Given the description of an element on the screen output the (x, y) to click on. 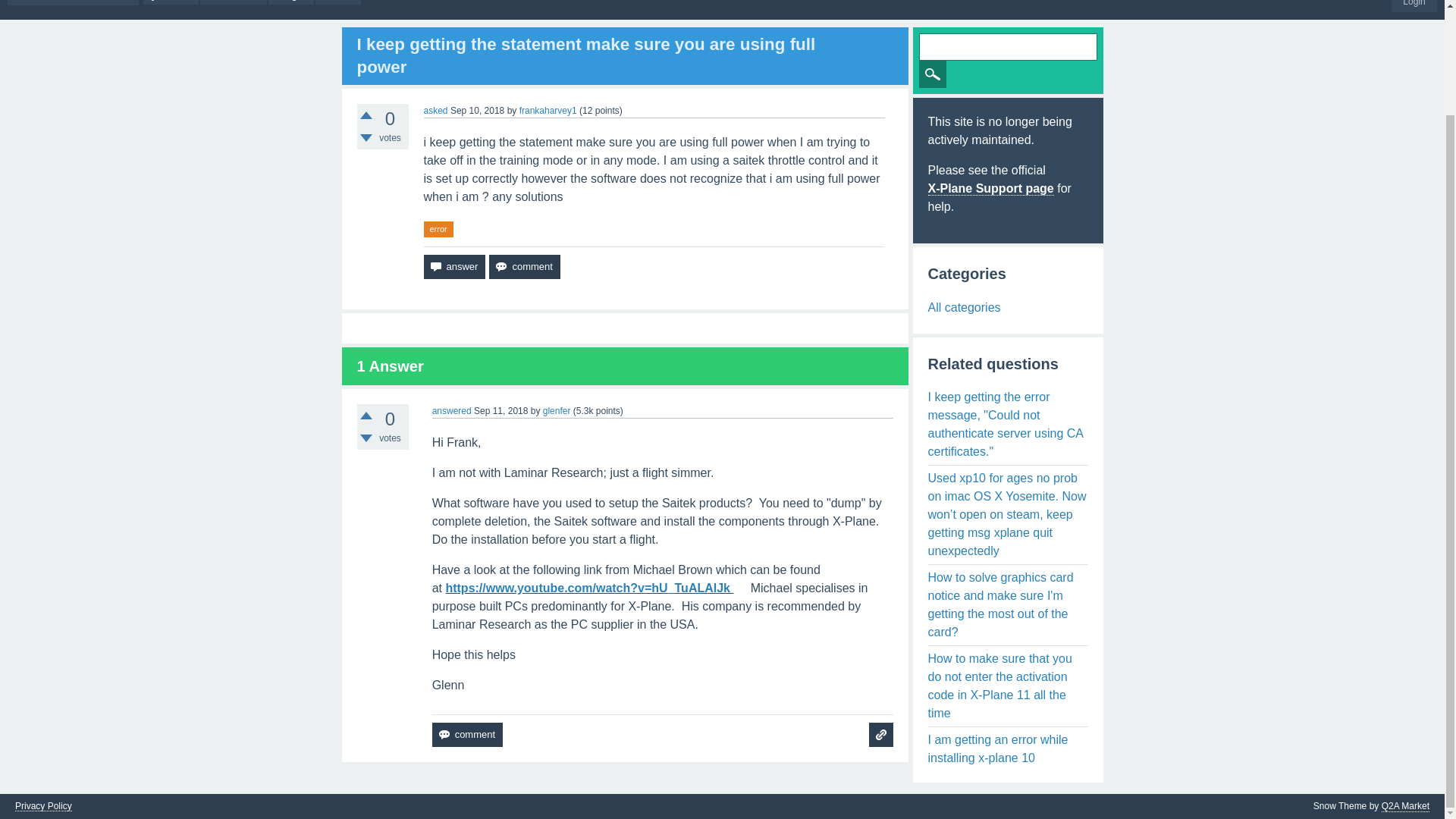
answered (451, 410)
ask related question (881, 734)
Click to vote up (365, 415)
Users (338, 2)
ask related question (881, 734)
frankaharvey1 (547, 110)
Tags (290, 2)
Click to vote up (365, 114)
All categories (964, 307)
Search (932, 73)
glenfer (556, 410)
asked (434, 110)
Add a comment on this answer (467, 734)
Search (932, 73)
answer (453, 266)
